Given the description of an element on the screen output the (x, y) to click on. 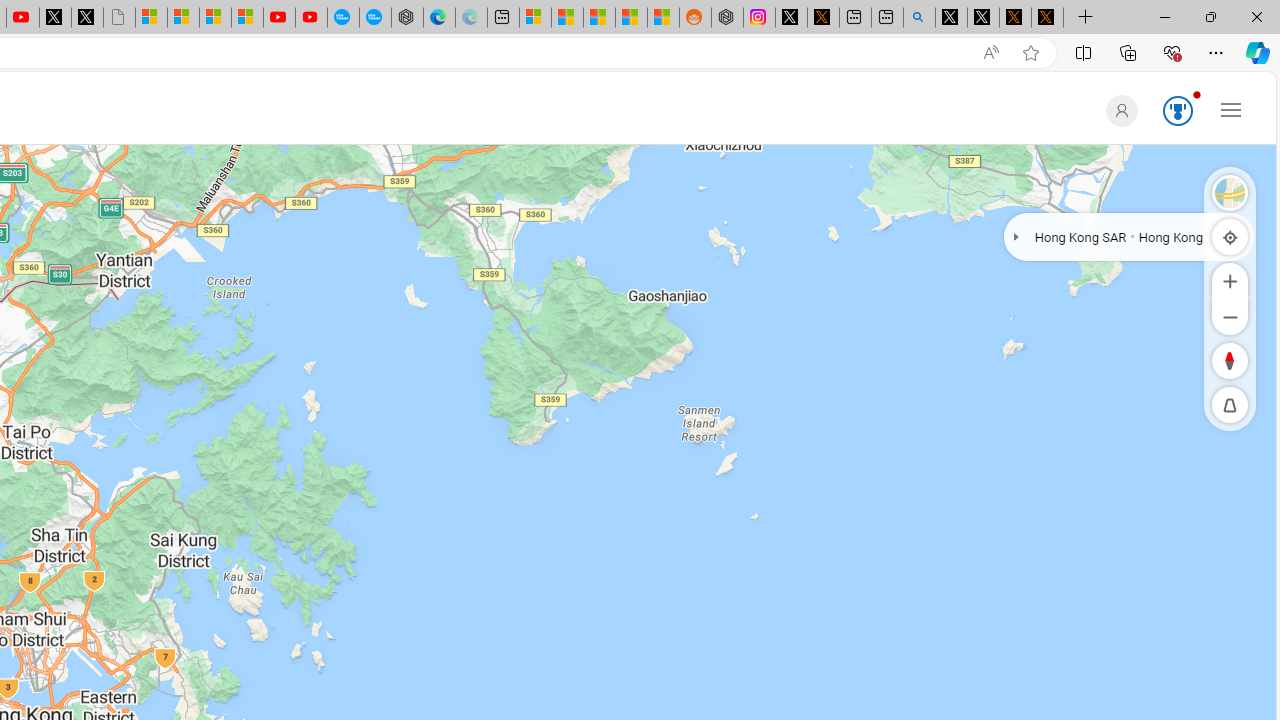
Eugene (1117, 110)
Nordace - Nordace has arrived Hong Kong (407, 17)
Animation (1196, 94)
Expand/Collapse Geochain (1016, 236)
help.x.com | 524: A timeout occurred (822, 17)
github - Search (919, 17)
Shanghai, China weather forecast | Microsoft Weather (566, 17)
Log in to X / X (791, 17)
